Given the description of an element on the screen output the (x, y) to click on. 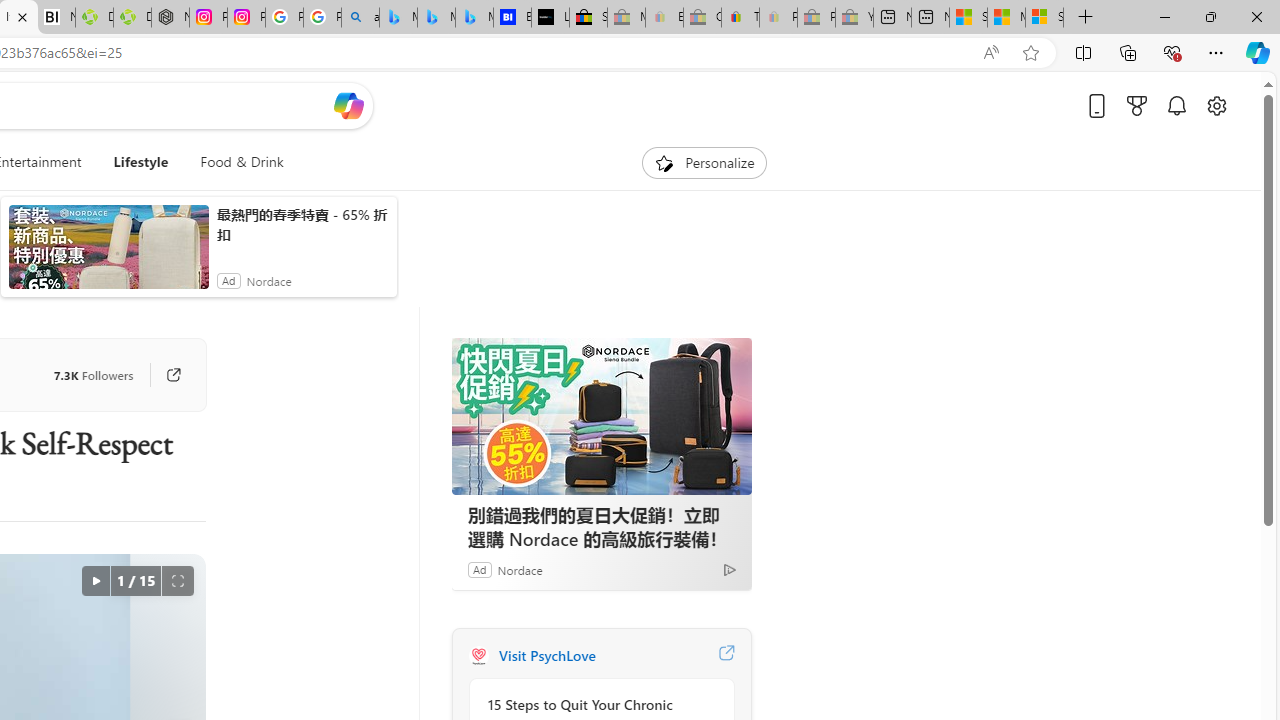
Sign in to your Microsoft account (1044, 17)
Ad Choice (729, 569)
Personalize (703, 162)
Microsoft Bing Travel - Shangri-La Hotel Bangkok (473, 17)
Threats and offensive language policy | eBay (740, 17)
PsychLove (478, 655)
Lifestyle (141, 162)
Notifications (1176, 105)
Descarga Driver Updater (132, 17)
